Given the description of an element on the screen output the (x, y) to click on. 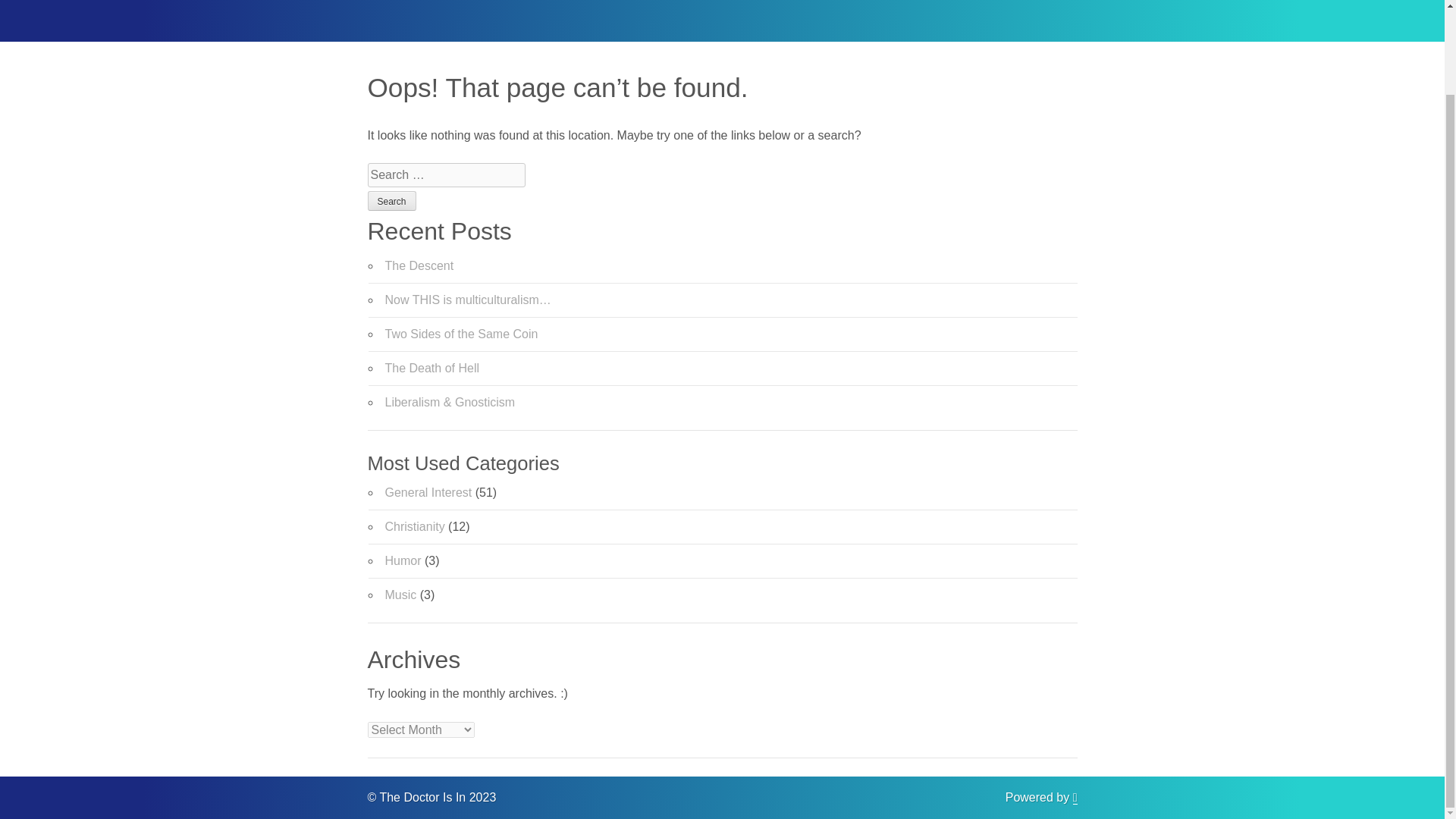
Search (390, 200)
The Descent (419, 265)
Two Sides of the Same Coin (461, 333)
Music (400, 594)
General Interest (428, 492)
Search (390, 200)
Search (390, 200)
Humor (403, 560)
The Death of Hell (432, 367)
Christianity (415, 526)
